Given the description of an element on the screen output the (x, y) to click on. 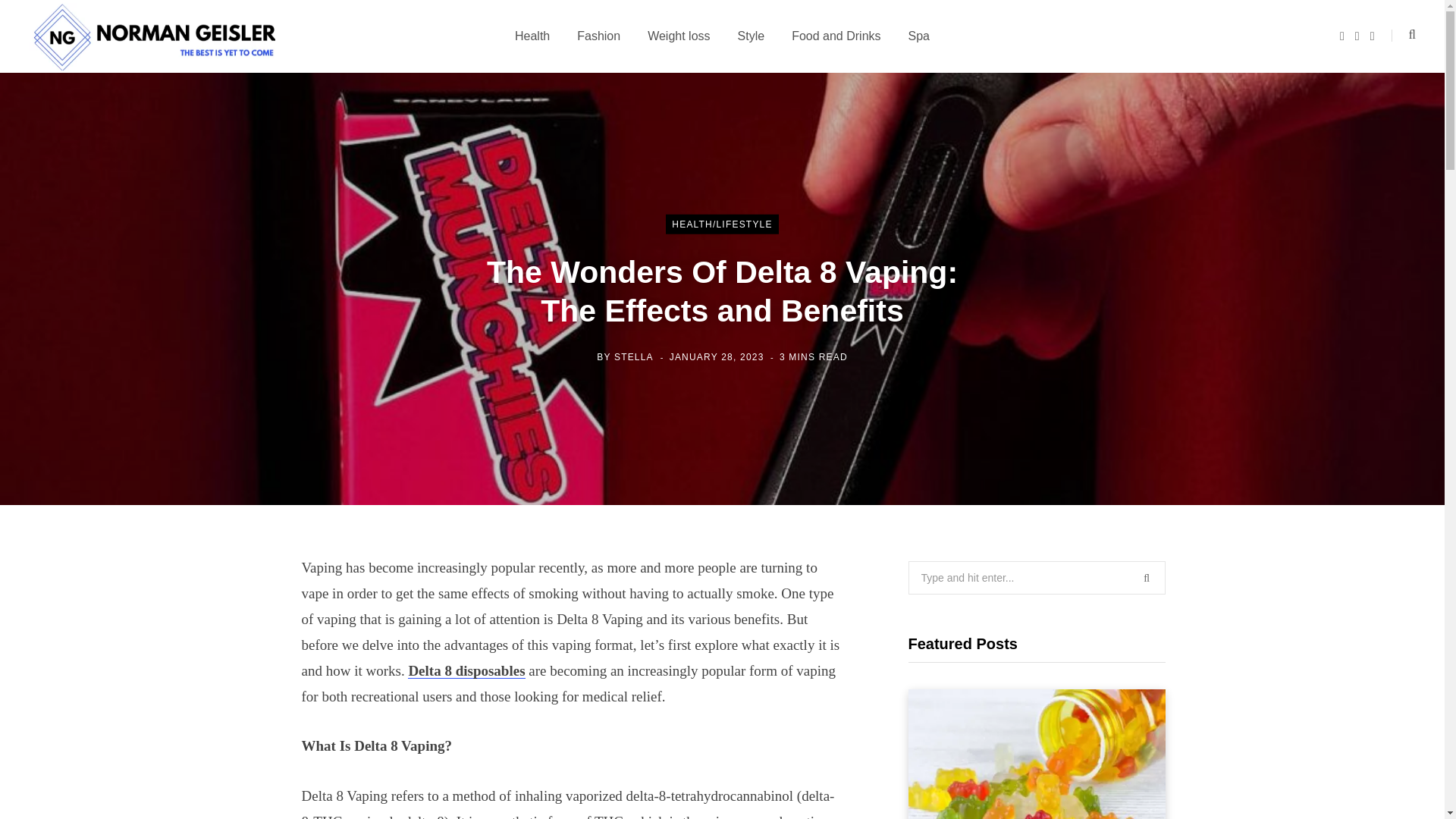
Norman Geisler (152, 36)
Weight loss (678, 36)
Delta 8 disposables (465, 670)
Posts by Stella (633, 356)
STELLA (633, 356)
Fashion (598, 36)
Food and Drinks (835, 36)
